Given the description of an element on the screen output the (x, y) to click on. 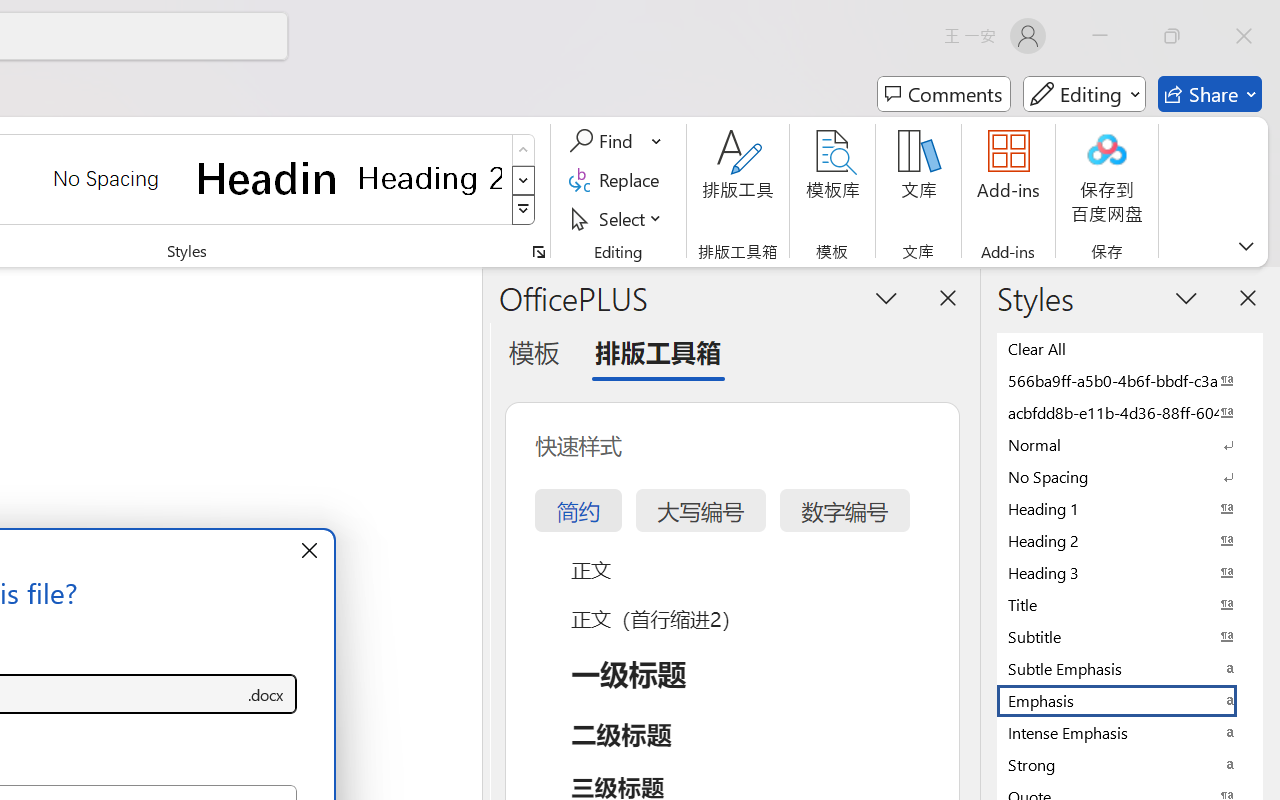
acbfdd8b-e11b-4d36-88ff-6049b138f862 (1130, 412)
Strong (1130, 764)
Minimize (1099, 36)
Heading 3 (1130, 572)
Comments (943, 94)
Restore Down (1172, 36)
Task Pane Options (886, 297)
Styles (523, 209)
Clear All (1130, 348)
Subtle Emphasis (1130, 668)
Title (1130, 604)
